Given the description of an element on the screen output the (x, y) to click on. 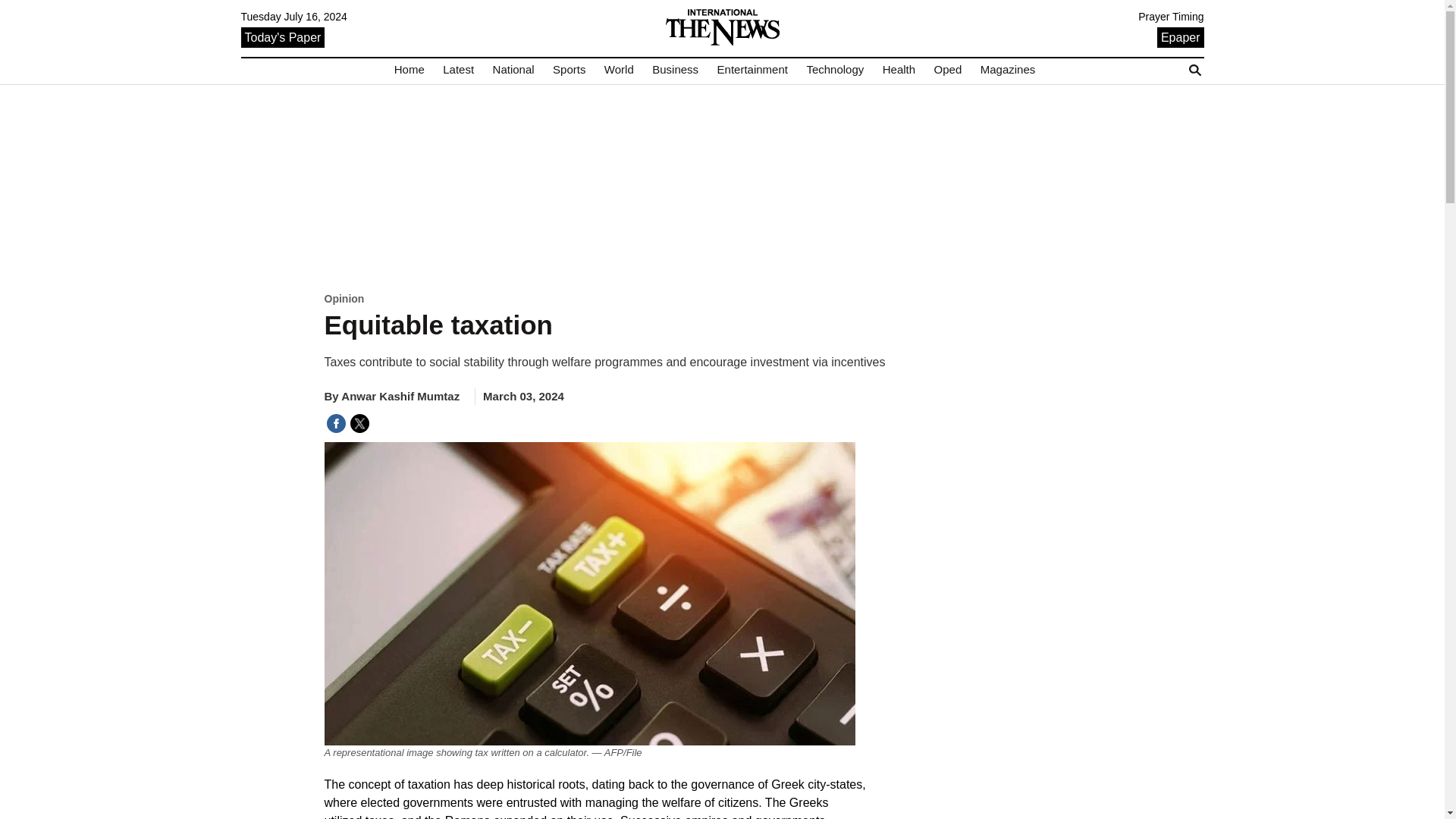
Business (675, 69)
Latest (458, 69)
Technology (833, 69)
Prayer Timing (1171, 16)
World (619, 69)
National (512, 69)
Health (899, 69)
Home (409, 69)
Entertainment (752, 69)
Epaper (1180, 37)
Sports (568, 69)
3rd party ad content (721, 186)
Today's Paper (282, 37)
